Given the description of an element on the screen output the (x, y) to click on. 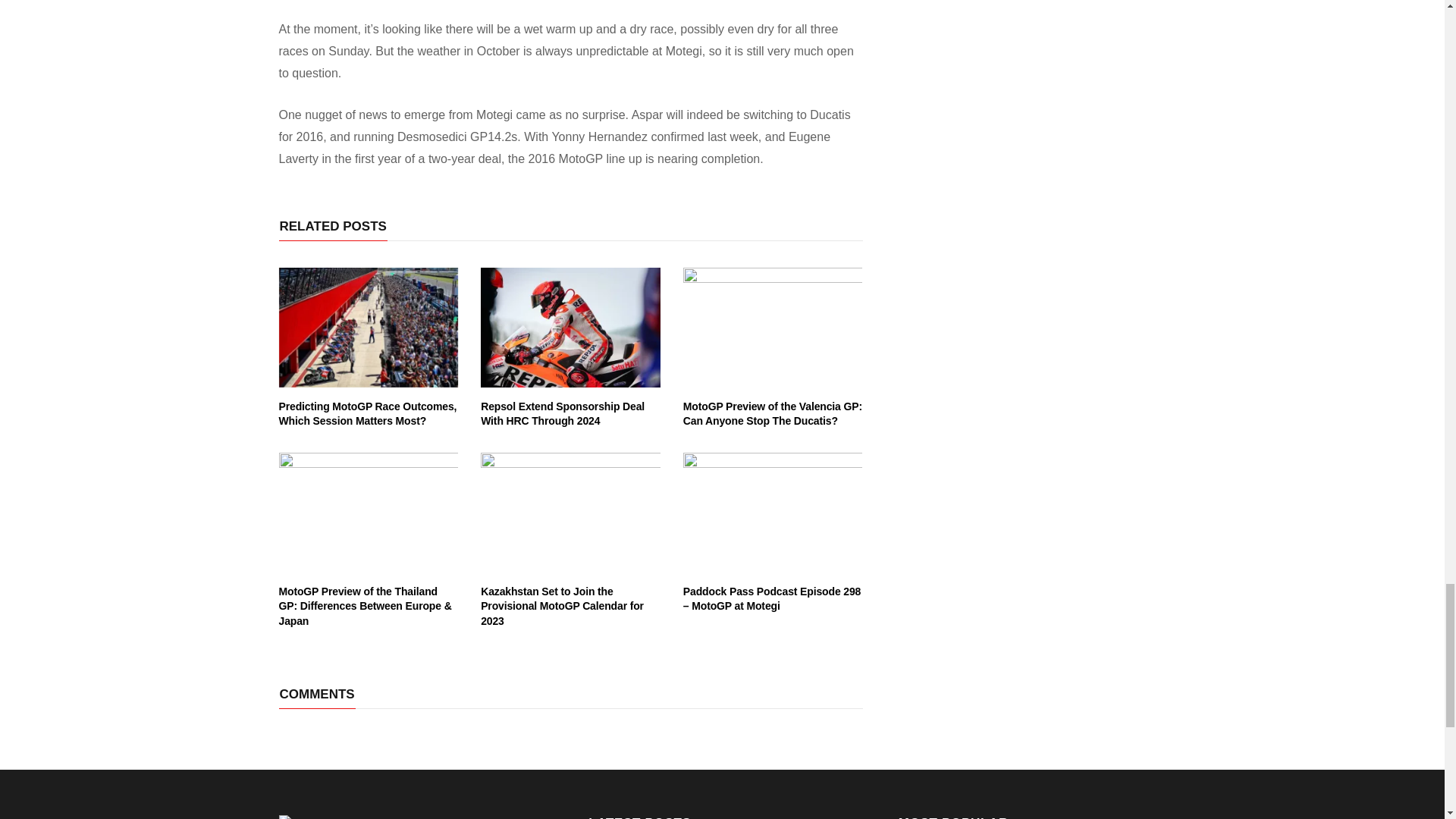
Predicting MotoGP Race Outcomes, Which Session Matters Most? (368, 413)
